Given the description of an element on the screen output the (x, y) to click on. 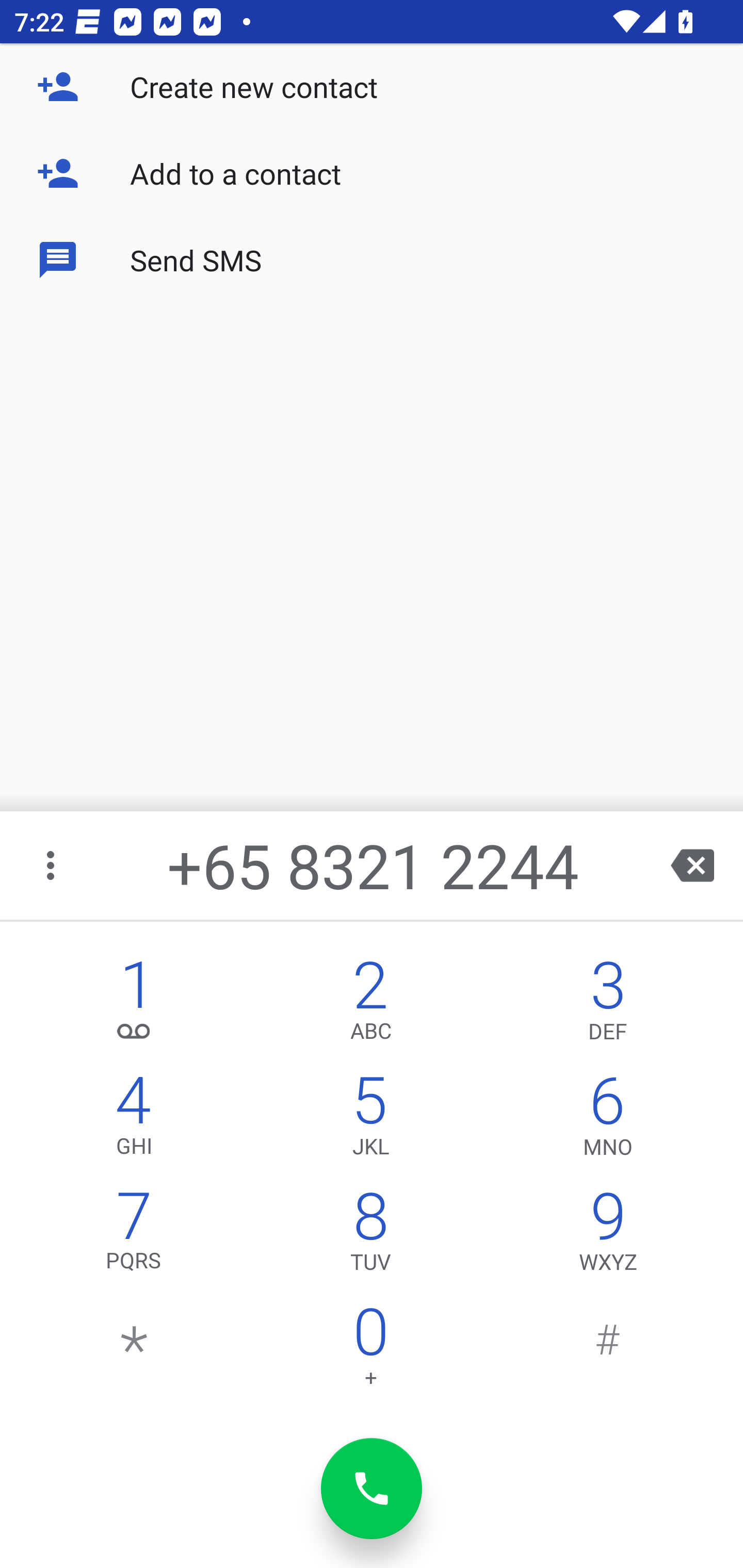
Create new contact (371, 86)
Add to a contact (371, 173)
Send SMS (371, 259)
+65 8321 2244 (372, 865)
backspace (692, 865)
More options (52, 865)
1, 1 (133, 1005)
2,ABC 2 ABC (370, 1005)
3,DEF 3 DEF (607, 1005)
4,GHI 4 GHI (133, 1120)
5,JKL 5 JKL (370, 1120)
6,MNO 6 MNO (607, 1120)
7,PQRS 7 PQRS (133, 1235)
8,TUV 8 TUV (370, 1235)
9,WXYZ 9 WXYZ (607, 1235)
* (133, 1351)
0 0 + (370, 1351)
# (607, 1351)
dial (371, 1488)
